Given the description of an element on the screen output the (x, y) to click on. 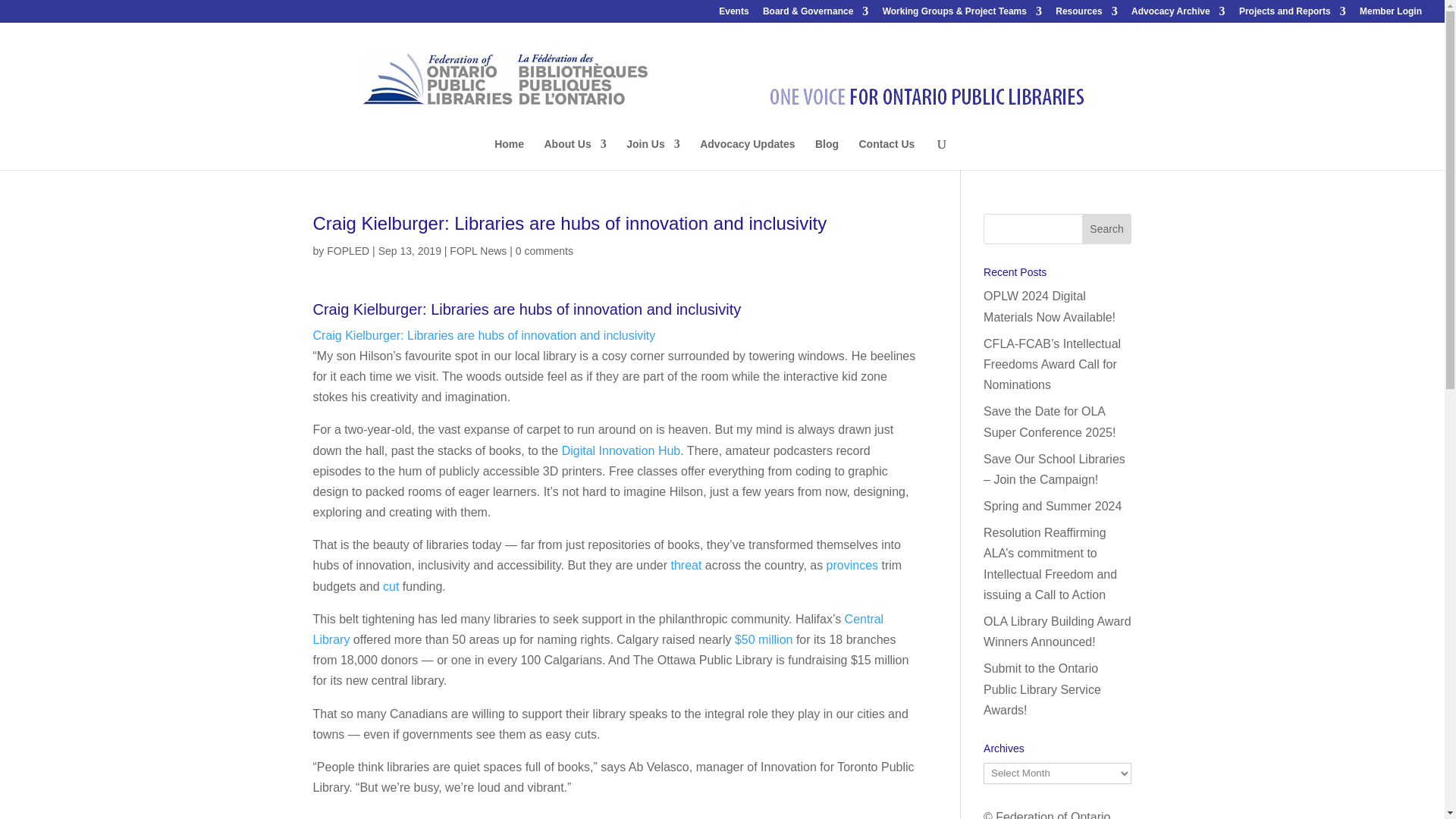
Search (1106, 228)
Events (733, 14)
Resources (1085, 14)
Posts by FOPLED (347, 250)
Advocacy Archive (1178, 14)
Projects and Reports (1292, 14)
